Given the description of an element on the screen output the (x, y) to click on. 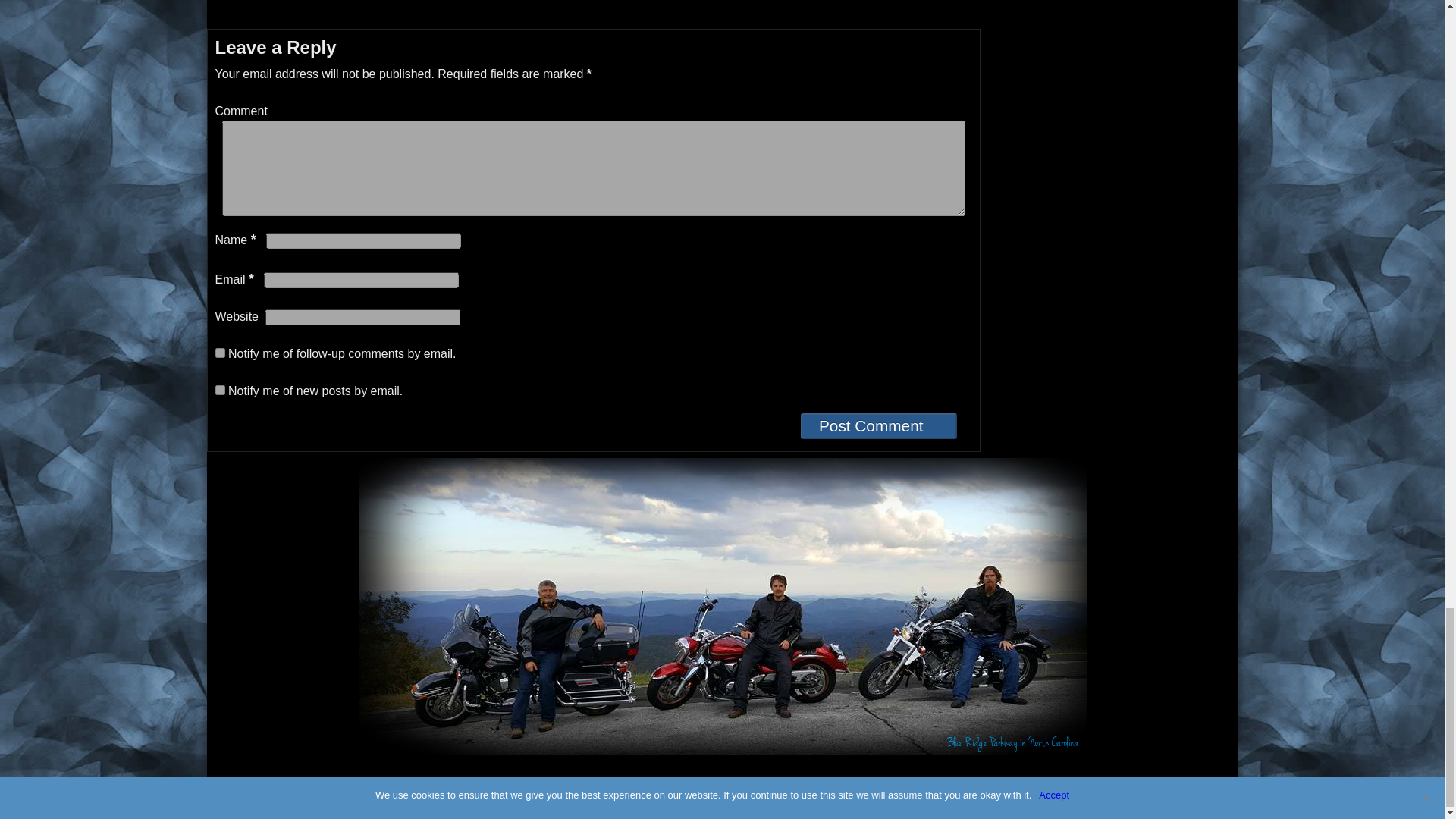
Awakened Warriors (303, 806)
subscribe (220, 389)
Post Comment (878, 426)
subscribe (220, 352)
Post Comment (878, 426)
